Given the description of an element on the screen output the (x, y) to click on. 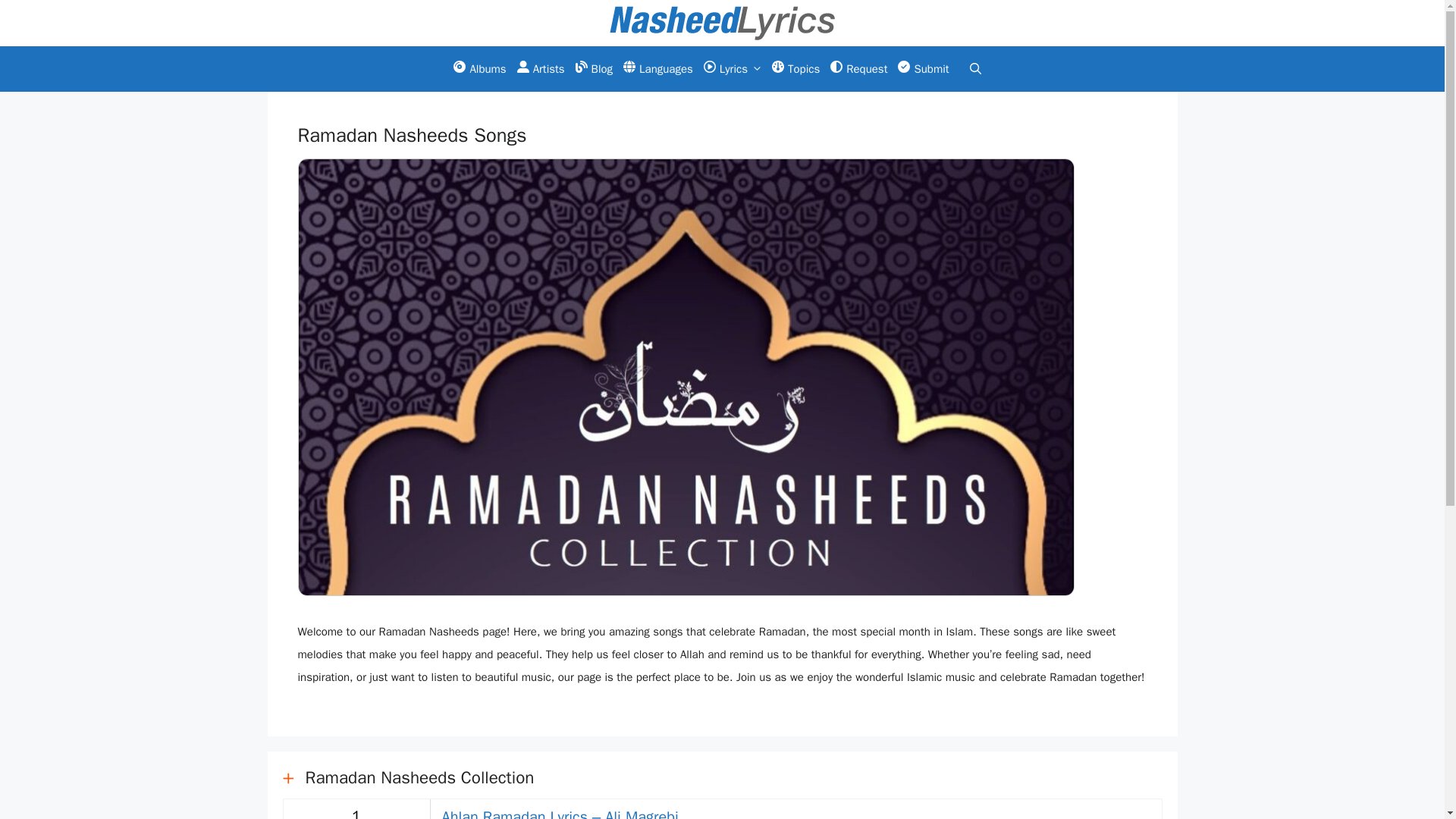
Submit (922, 68)
Blog (593, 68)
Languages (657, 68)
Request (858, 68)
Artists (541, 68)
Topics (796, 68)
Albums (479, 68)
Lyrics (732, 68)
